Given the description of an element on the screen output the (x, y) to click on. 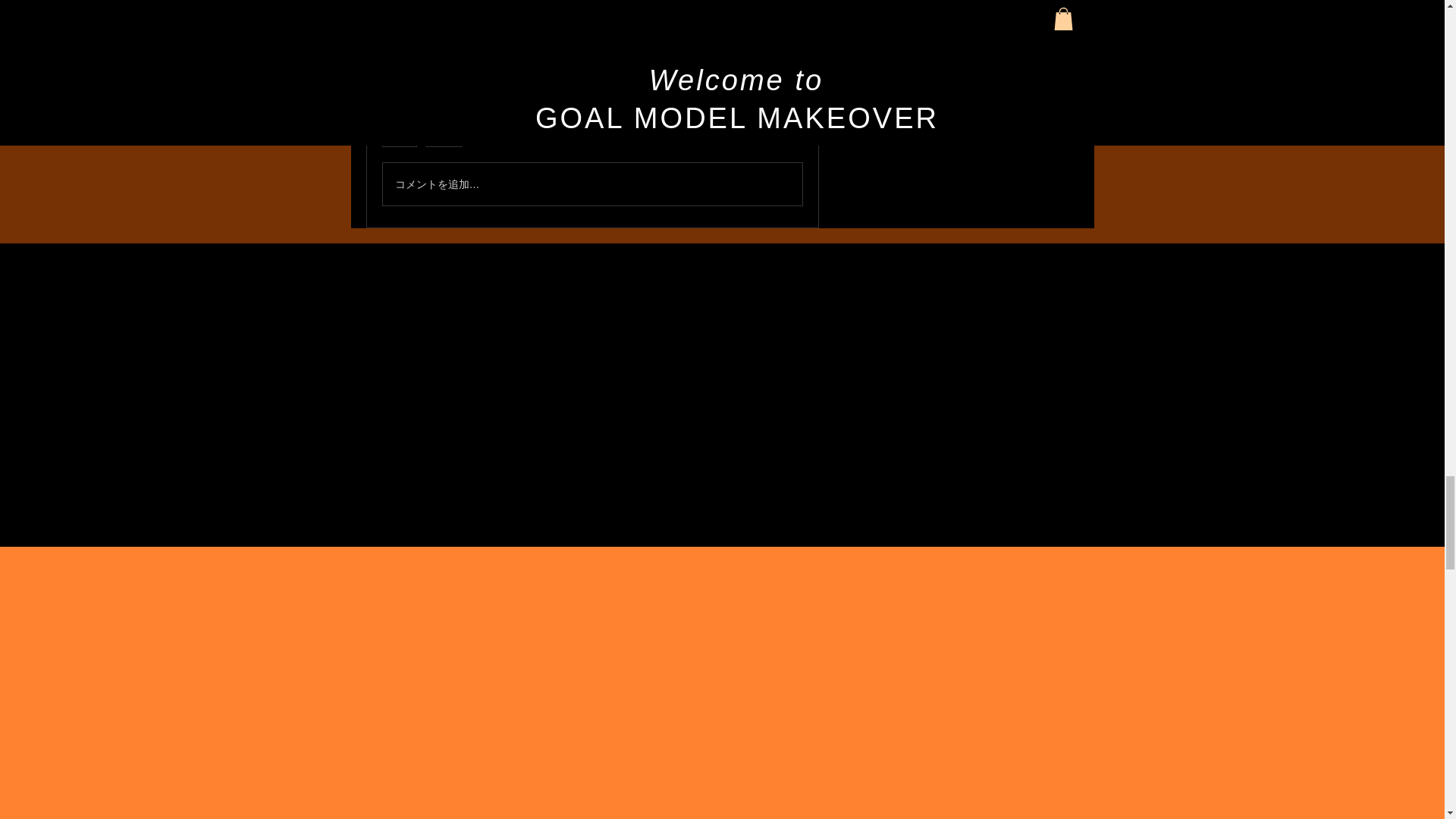
0 Comments (772, 137)
